Given the description of an element on the screen output the (x, y) to click on. 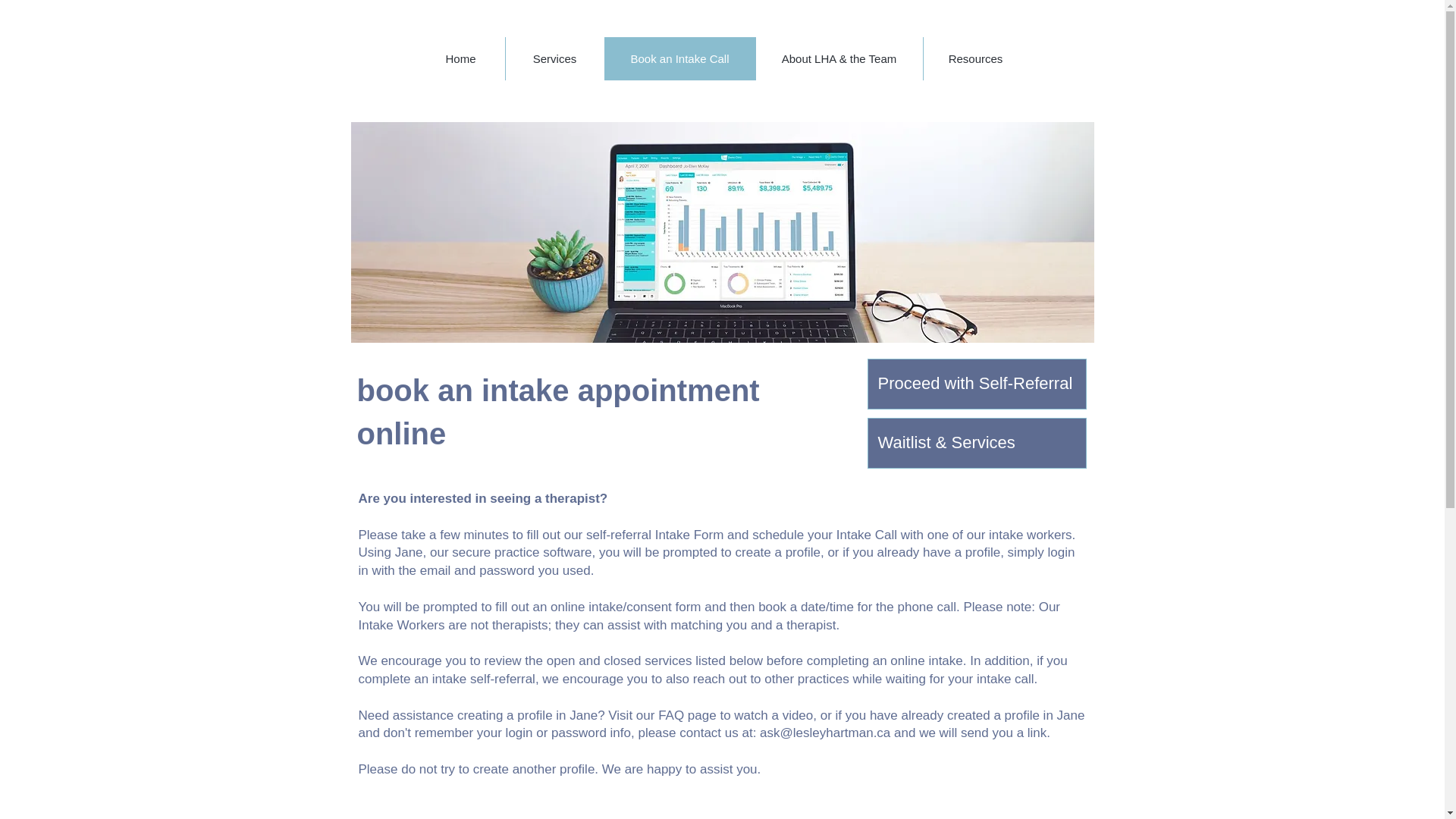
FAQ page (687, 715)
Book an Intake Call (679, 58)
Resources (974, 58)
Home (460, 58)
Services (554, 58)
Proceed with Self-Referral (976, 383)
